Given the description of an element on the screen output the (x, y) to click on. 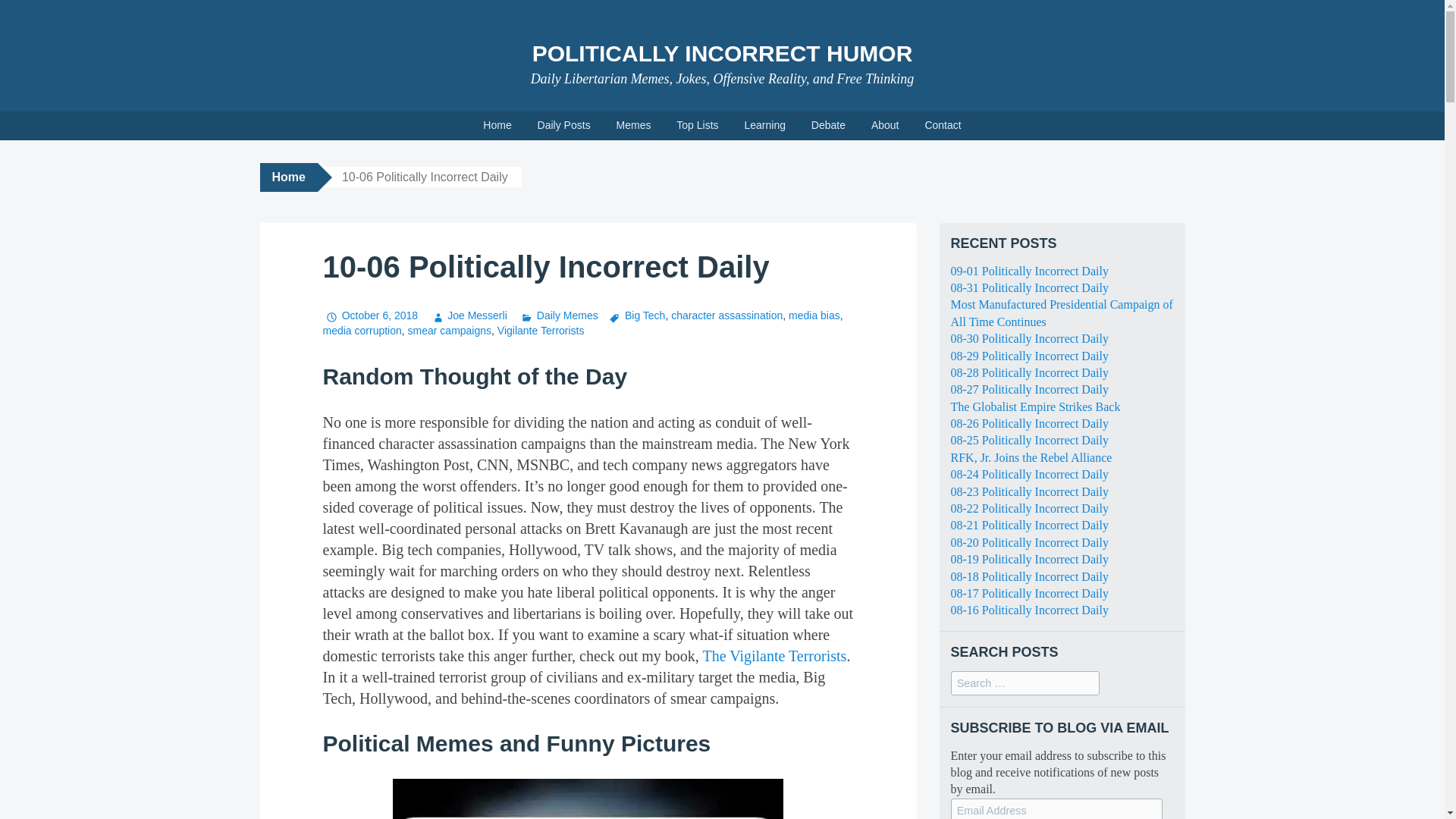
Home (496, 125)
Big Tech (635, 315)
Memes (633, 125)
media corruption (362, 330)
POLITICALLY INCORRECT HUMOR (722, 53)
08-30 Politically Incorrect Daily (1029, 338)
Debate (828, 125)
About (885, 125)
media bias (814, 315)
Vigilante Terrorists (541, 330)
